Given the description of an element on the screen output the (x, y) to click on. 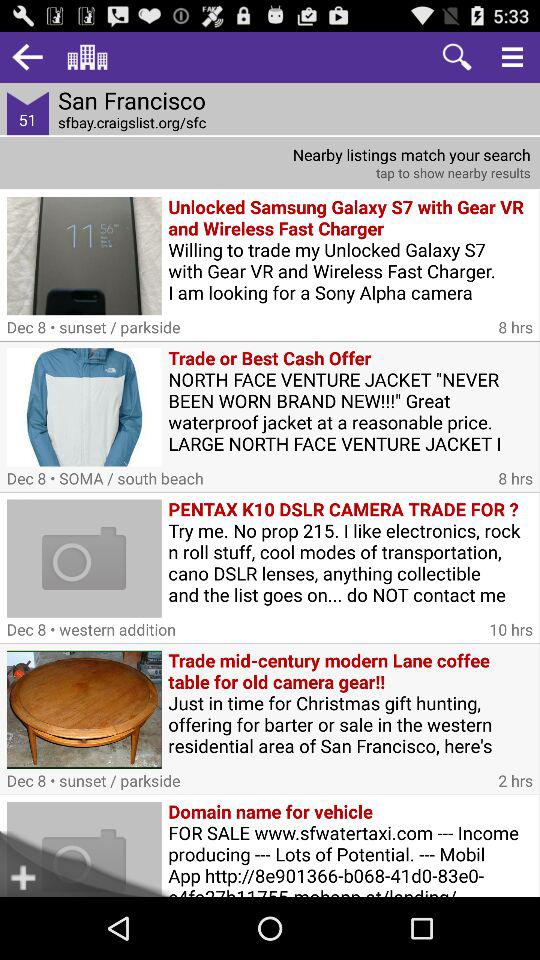
go to previous scene (27, 56)
